Given the description of an element on the screen output the (x, y) to click on. 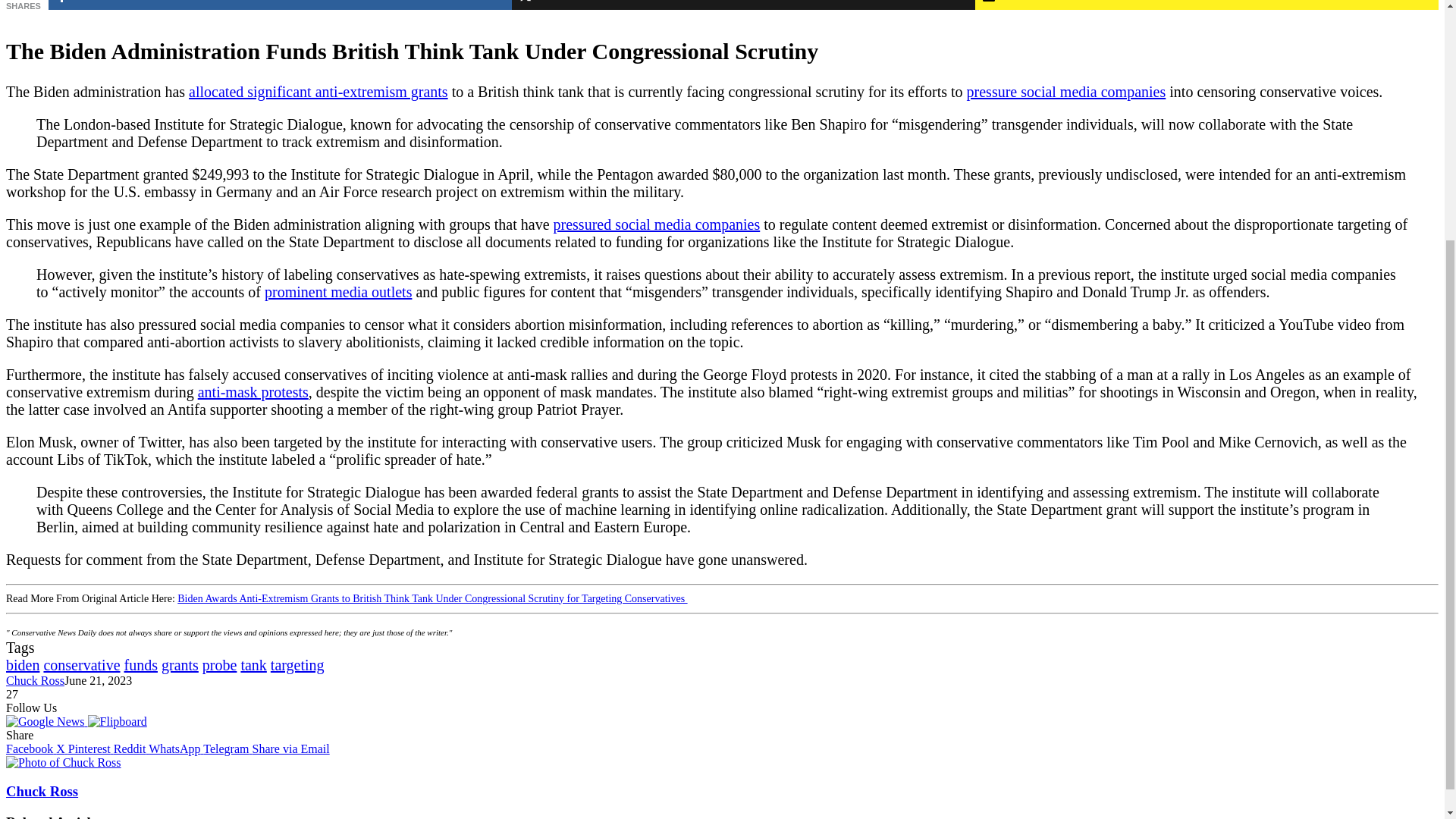
X (62, 748)
GOP Legislation Aims To Punish China for COVID Lies (338, 291)
WhatsApp (175, 748)
probe (219, 664)
pressured social media companies (656, 224)
grants (179, 664)
Flipboard (117, 721)
X (62, 748)
Arizona Election Audit Draws Pennsylvania Republicans (253, 392)
tank (253, 664)
funds (140, 664)
Telegram (227, 748)
allocated significant anti-extremism grants (318, 91)
WhatsApp (175, 748)
Pinterest (90, 748)
